Given the description of an element on the screen output the (x, y) to click on. 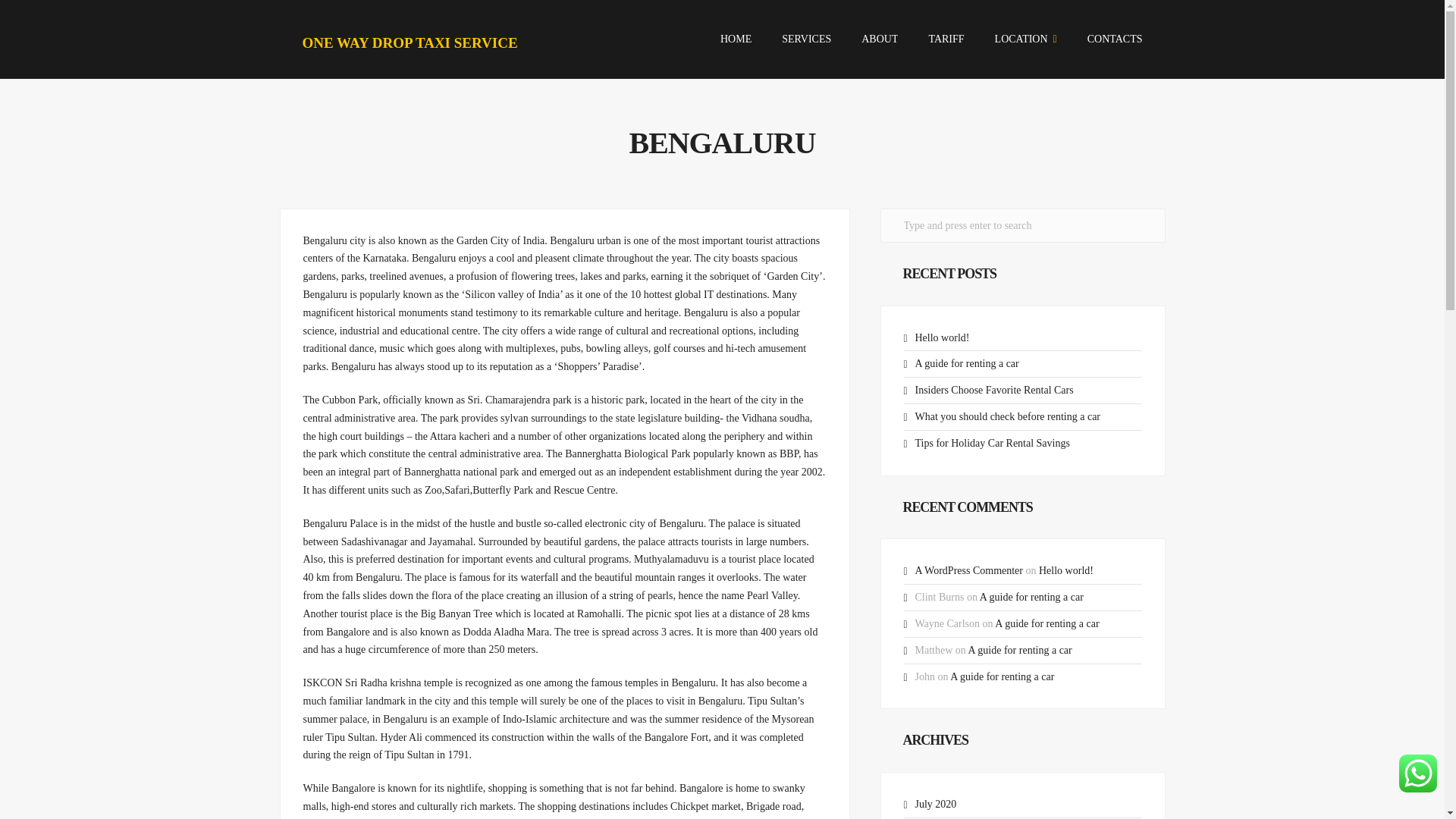
Tips for Holiday Car Rental Savings (991, 442)
A guide for renting a car (1031, 596)
TARIFF (945, 39)
A guide for renting a car (1002, 676)
Hello world! (941, 337)
SERVICES (806, 39)
A guide for renting a car (1046, 623)
ABOUT (879, 39)
A guide for renting a car (1019, 650)
LOCATION (1025, 39)
A WordPress Commenter (968, 570)
What you should check before renting a car (1007, 416)
Insiders Choose Favorite Rental Cars (993, 389)
ONE WAY DROP TAXI SERVICE (408, 42)
CONTACTS (1114, 39)
